Given the description of an element on the screen output the (x, y) to click on. 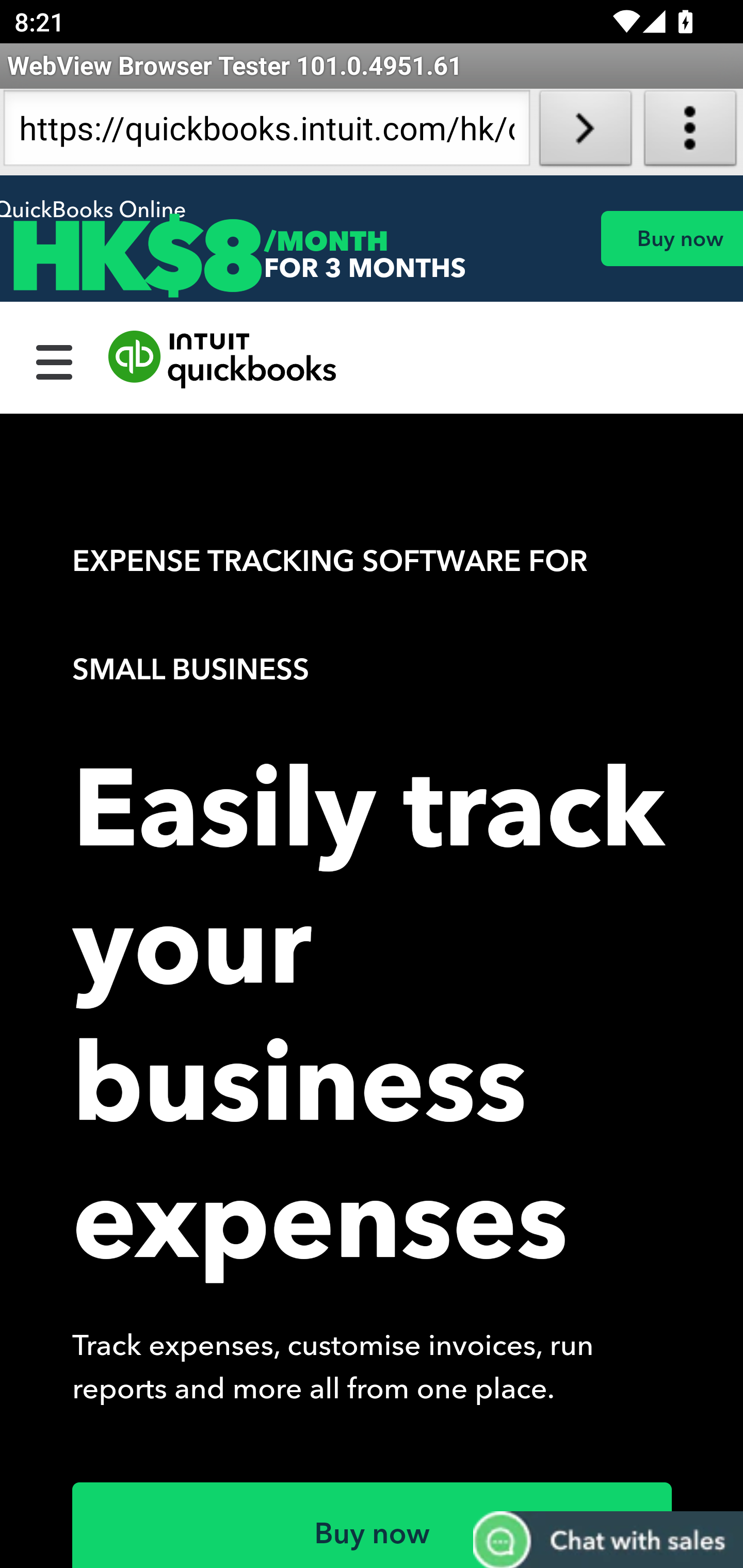
Load URL (585, 132)
About WebView (690, 132)
Buy now (671, 238)
quickbooks-mobile-burger (54, 359)
quickbooks (222, 359)
Buy now (372, 1524)
